Given the description of an element on the screen output the (x, y) to click on. 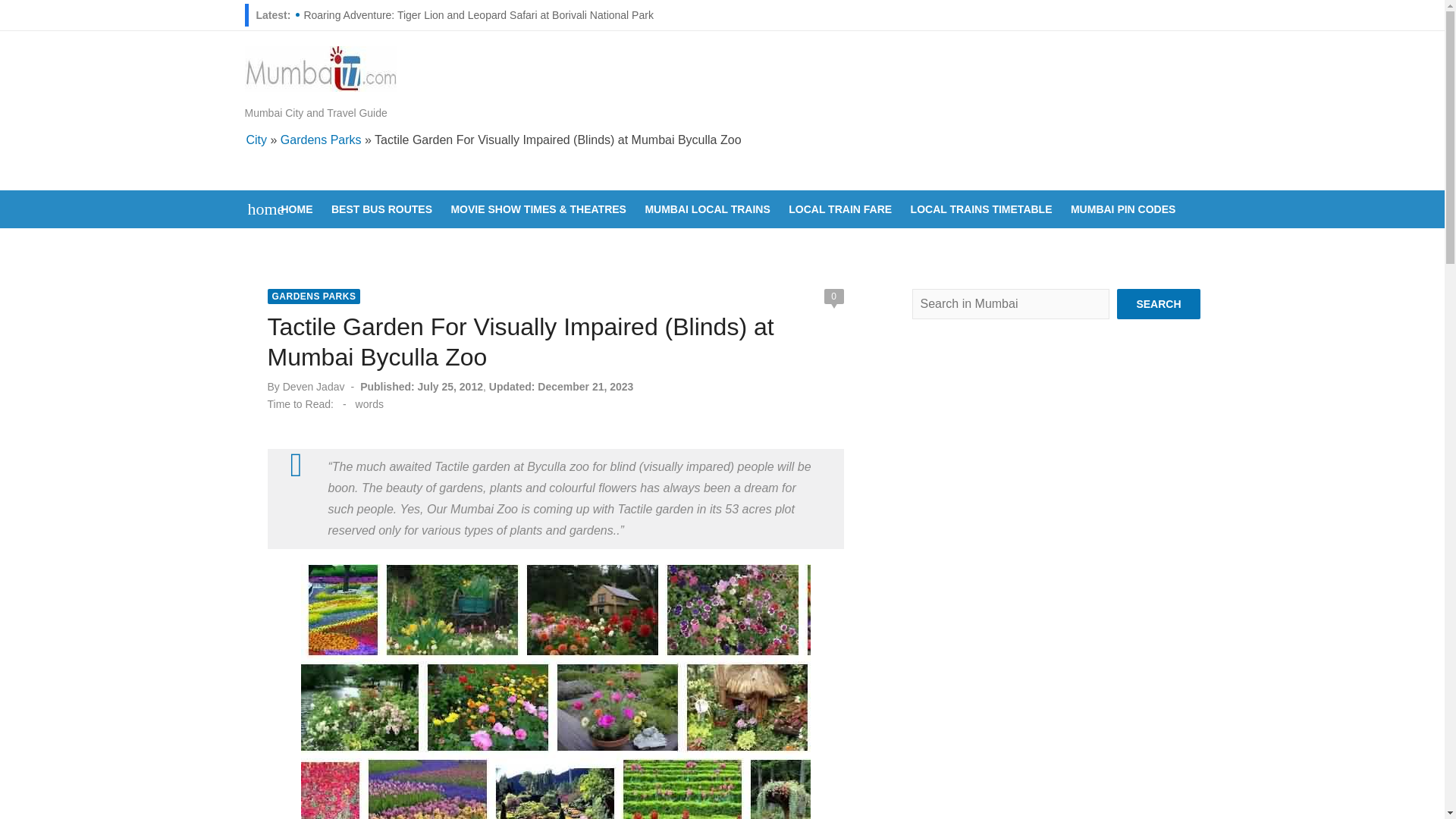
Byculla Zoo Tactile Garden (554, 691)
LOCAL TRAIN FARE (840, 208)
0 (833, 295)
BEST BUS ROUTES (382, 208)
Mumbai Local Trains (707, 208)
LOCAL TRAINS TIMETABLE (981, 208)
GARDENS PARKS (312, 295)
Current Movies in Mumbai (537, 208)
home (258, 208)
HOME (296, 208)
